Given the description of an element on the screen output the (x, y) to click on. 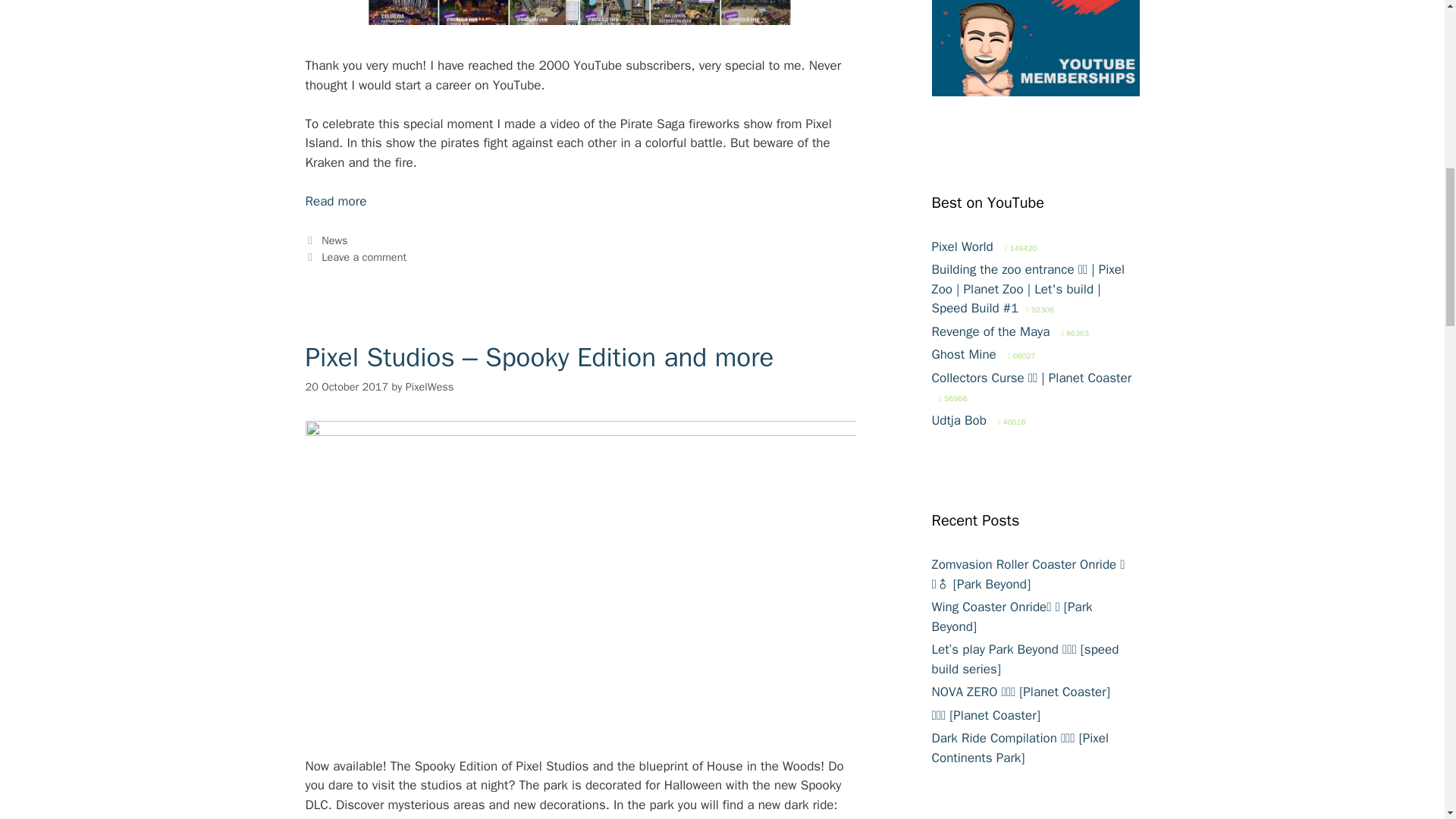
Read more (335, 201)
Leave a comment (363, 256)
News (334, 240)
PixelWess (430, 386)
